Given the description of an element on the screen output the (x, y) to click on. 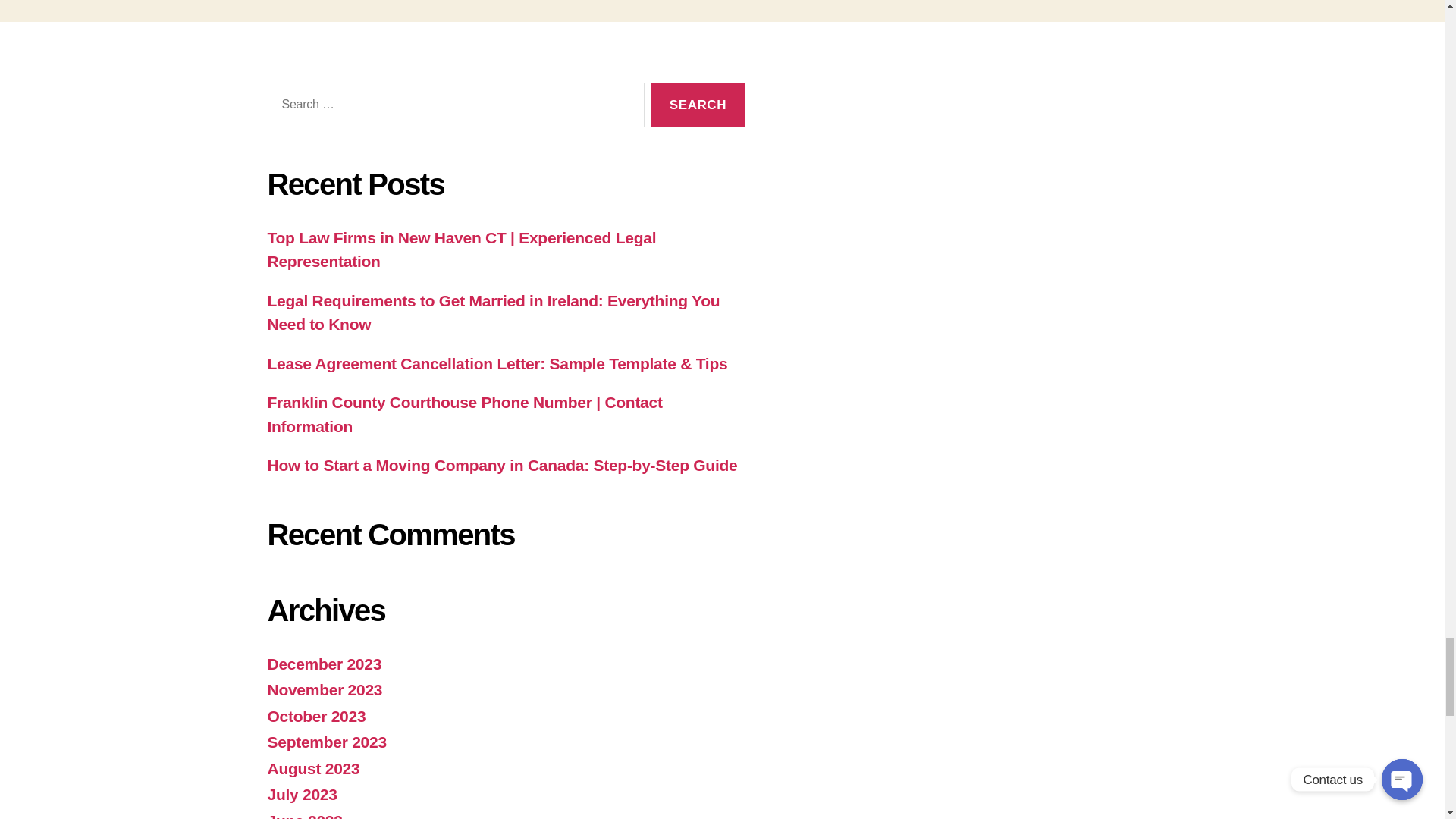
How to Start a Moving Company in Canada: Step-by-Step Guide (501, 465)
August 2023 (312, 768)
June 2023 (304, 815)
July 2023 (301, 794)
September 2023 (325, 742)
Search (697, 104)
November 2023 (323, 689)
December 2023 (323, 663)
Search (697, 104)
October 2023 (315, 715)
Search (697, 104)
